Given the description of an element on the screen output the (x, y) to click on. 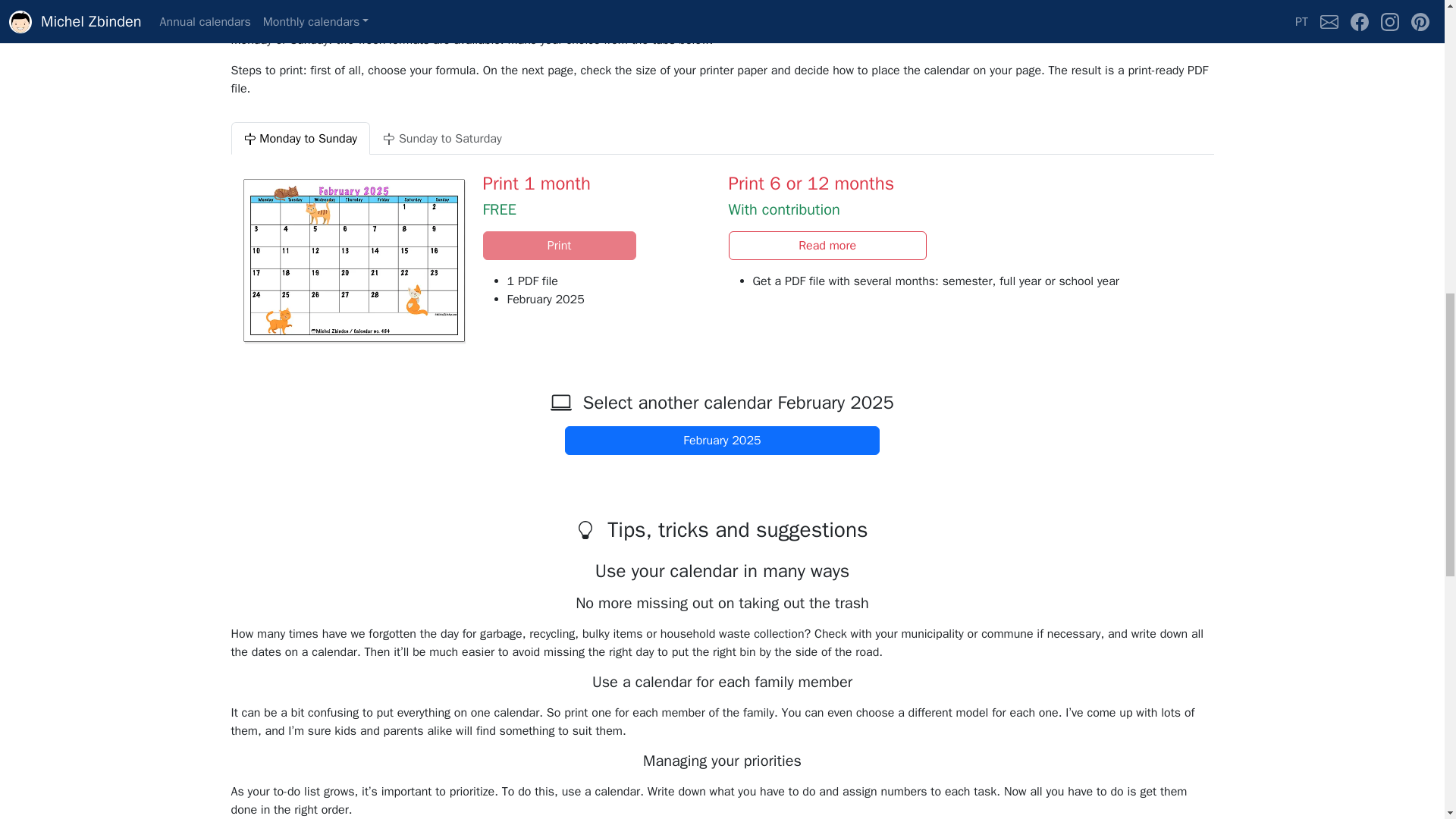
 Monday to Sunday (299, 138)
 Sunday to Saturday (442, 138)
Print (557, 245)
Print (557, 245)
Read more (827, 245)
February 2025 (721, 440)
